Given the description of an element on the screen output the (x, y) to click on. 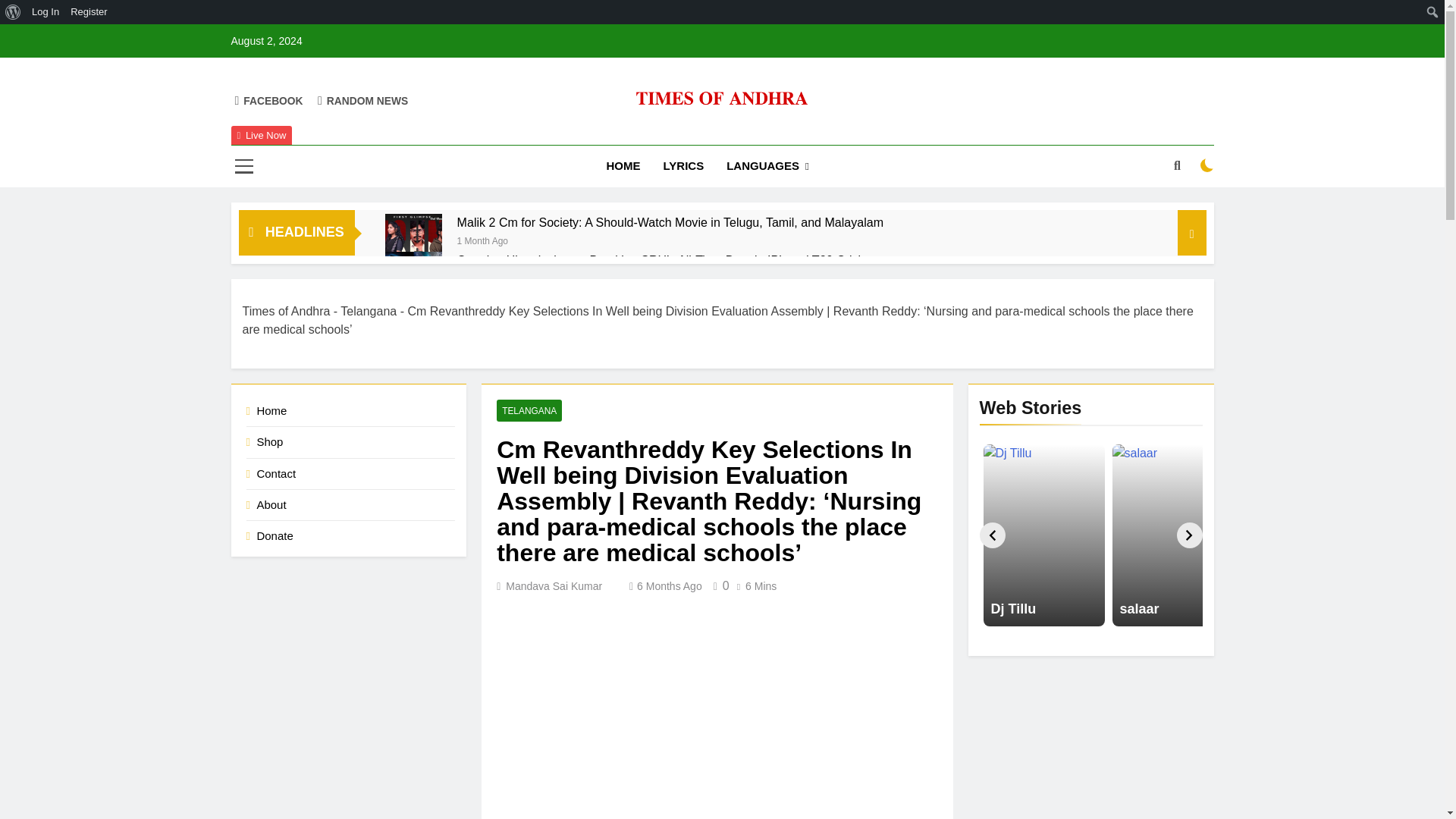
1 Month Ago (482, 239)
LYRICS (684, 165)
RANDOM NEWS (362, 100)
FACEBOOK (268, 100)
LANGUAGES (767, 166)
on (1206, 164)
Search (16, 12)
Log In (45, 12)
Register (89, 12)
Live Now (261, 135)
HOME (623, 165)
